Given the description of an element on the screen output the (x, y) to click on. 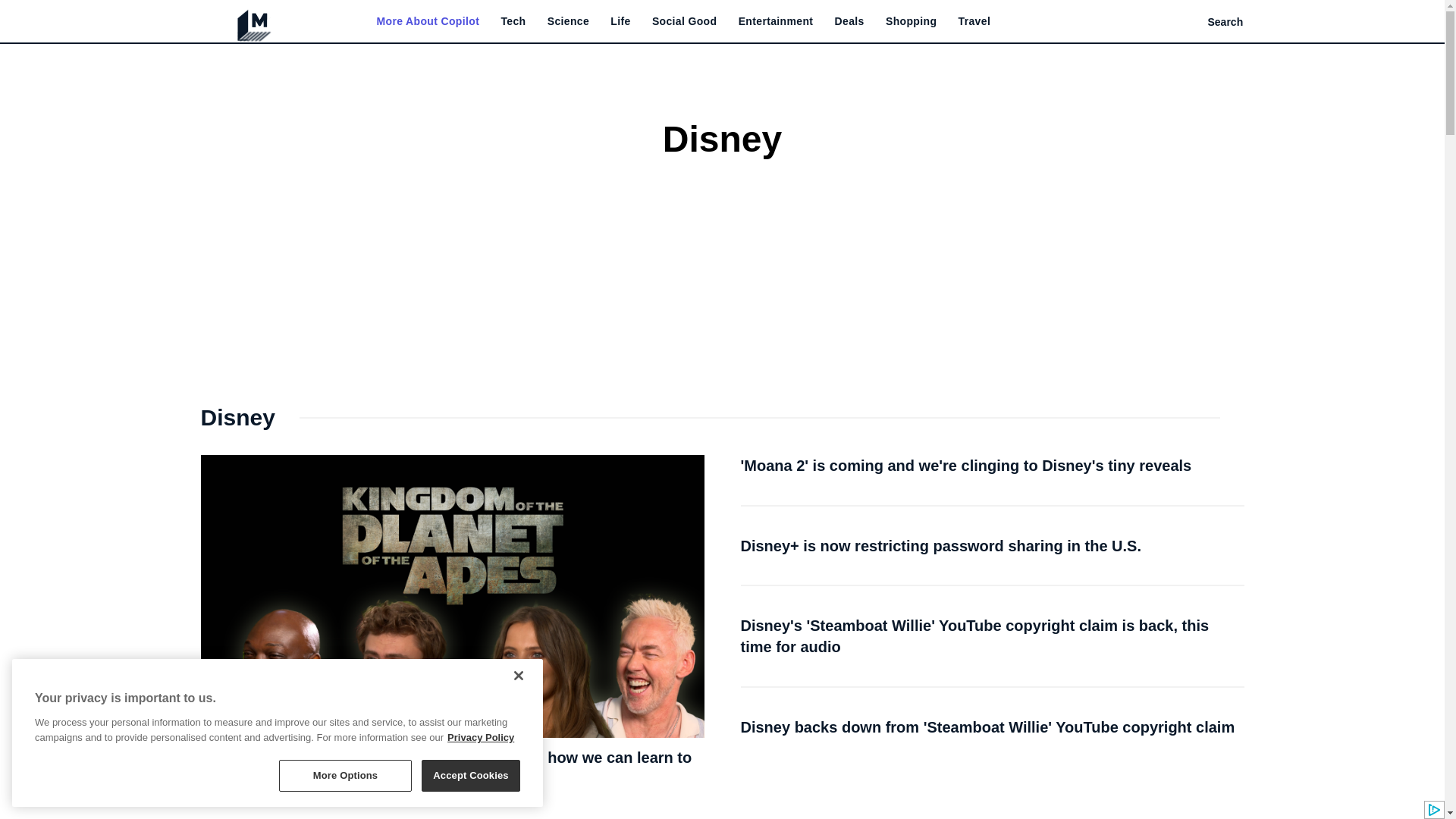
More About Copilot (427, 21)
Science (568, 21)
Entertainment (775, 21)
Social Good (684, 21)
Travel (974, 21)
Shopping (910, 21)
Life (620, 21)
Tech (512, 21)
Deals (849, 21)
